Given the description of an element on the screen output the (x, y) to click on. 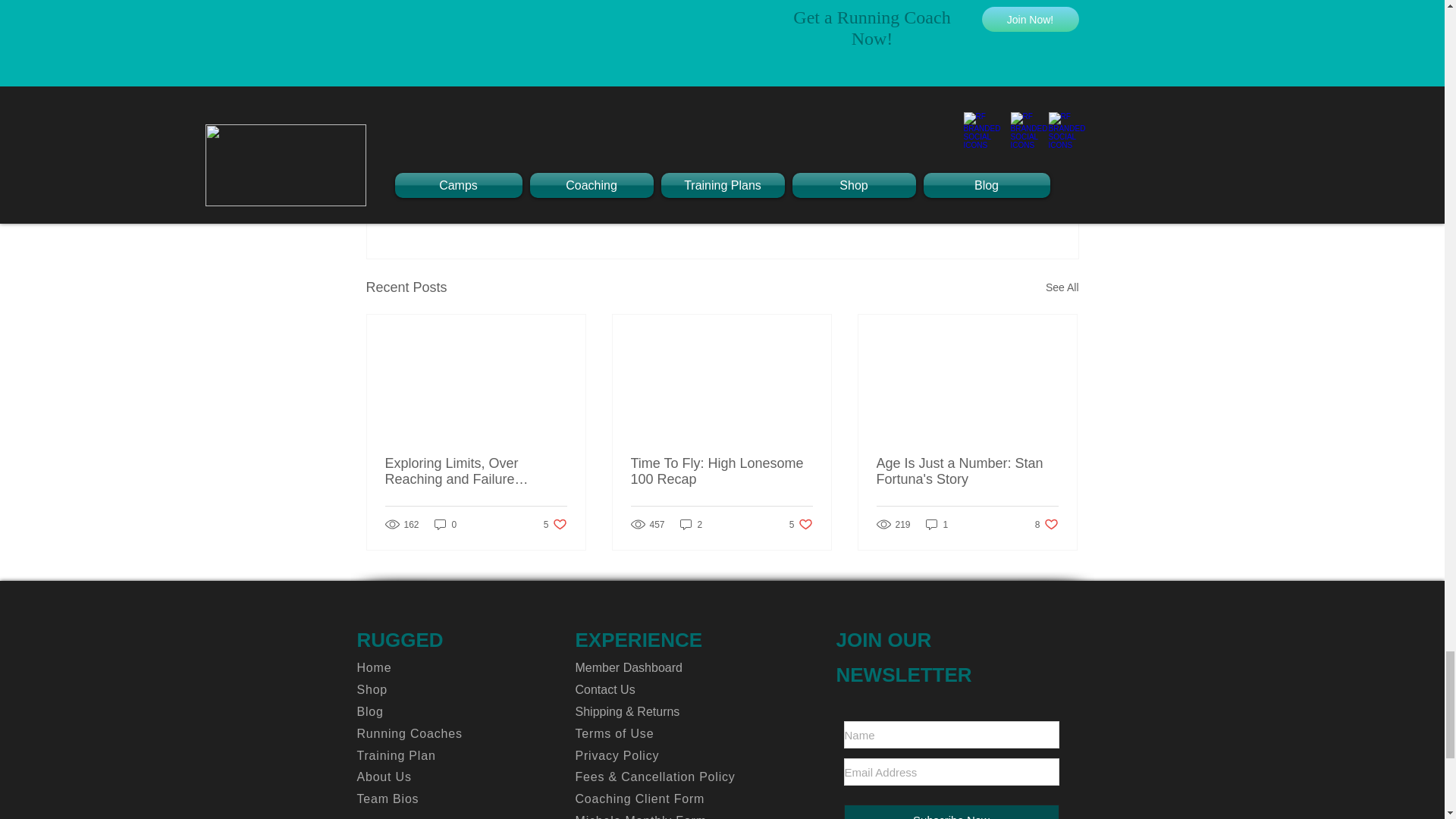
0 (445, 523)
Age Is Just a Number: Stan Fortuna's Story (800, 523)
Race Reports (1046, 523)
See All (555, 523)
1 (967, 471)
